Given the description of an element on the screen output the (x, y) to click on. 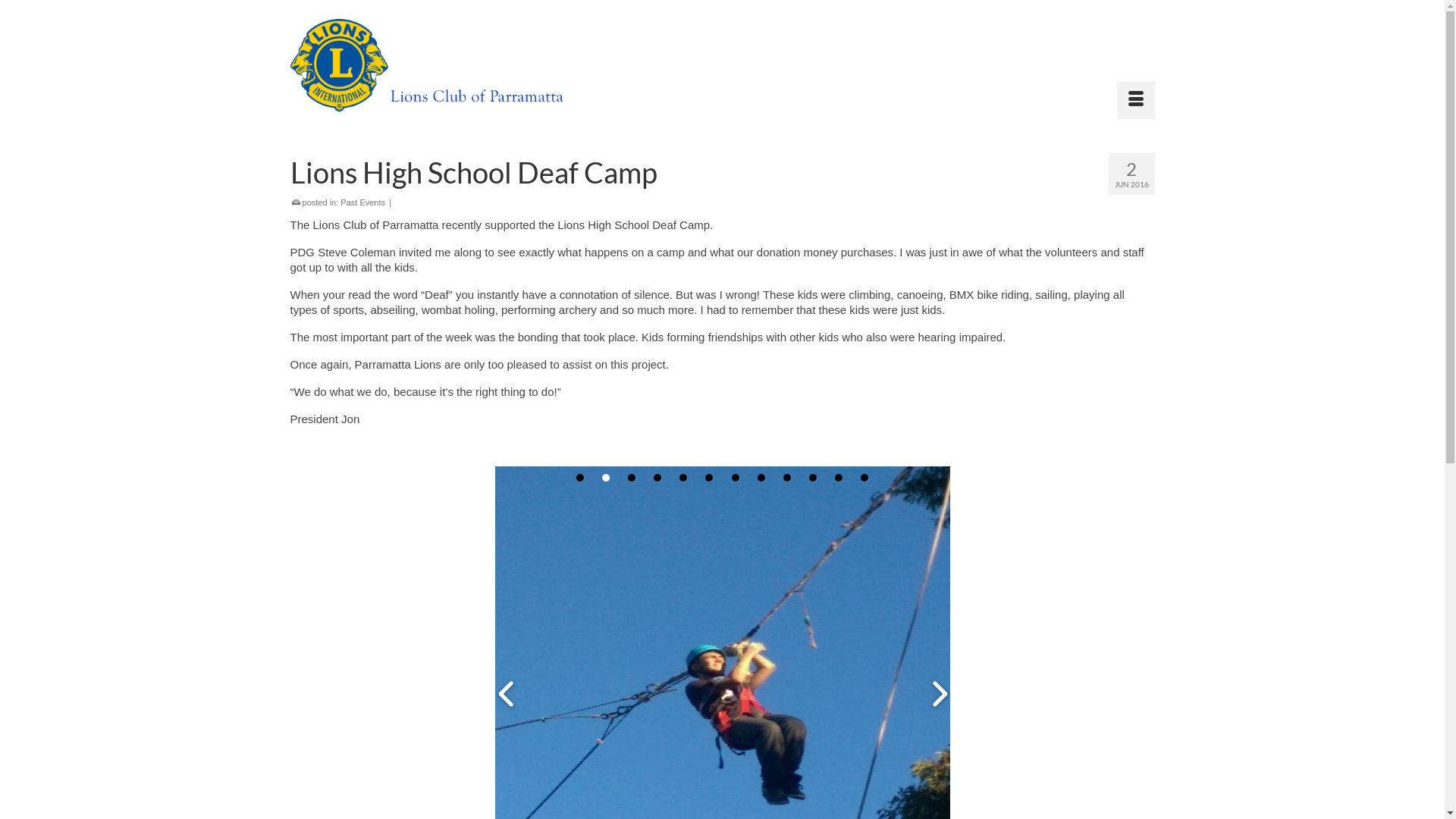
Lions Club of Parramatta Element type: hover (425, 64)
Past Events Element type: text (362, 202)
Menu Element type: hover (1135, 100)
